Given the description of an element on the screen output the (x, y) to click on. 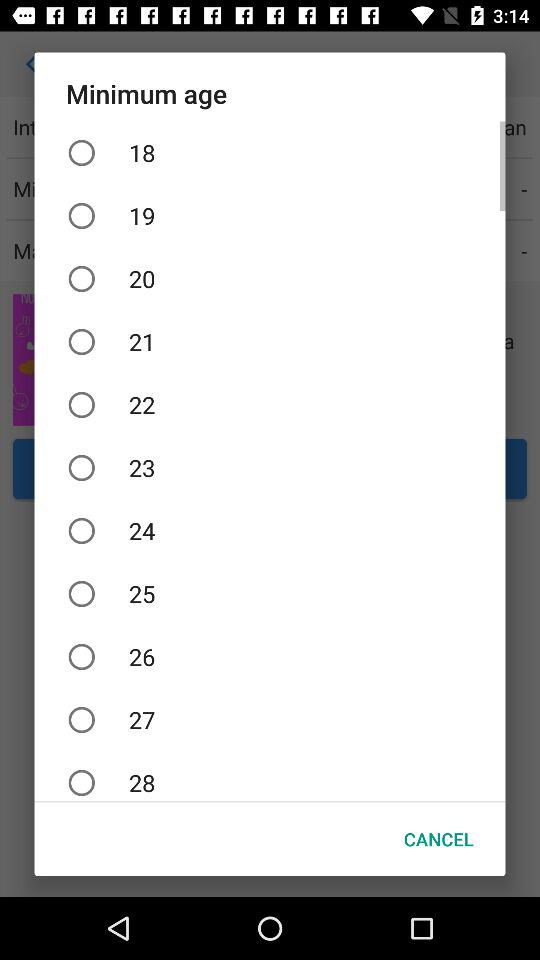
jump to the cancel button (438, 838)
